Given the description of an element on the screen output the (x, y) to click on. 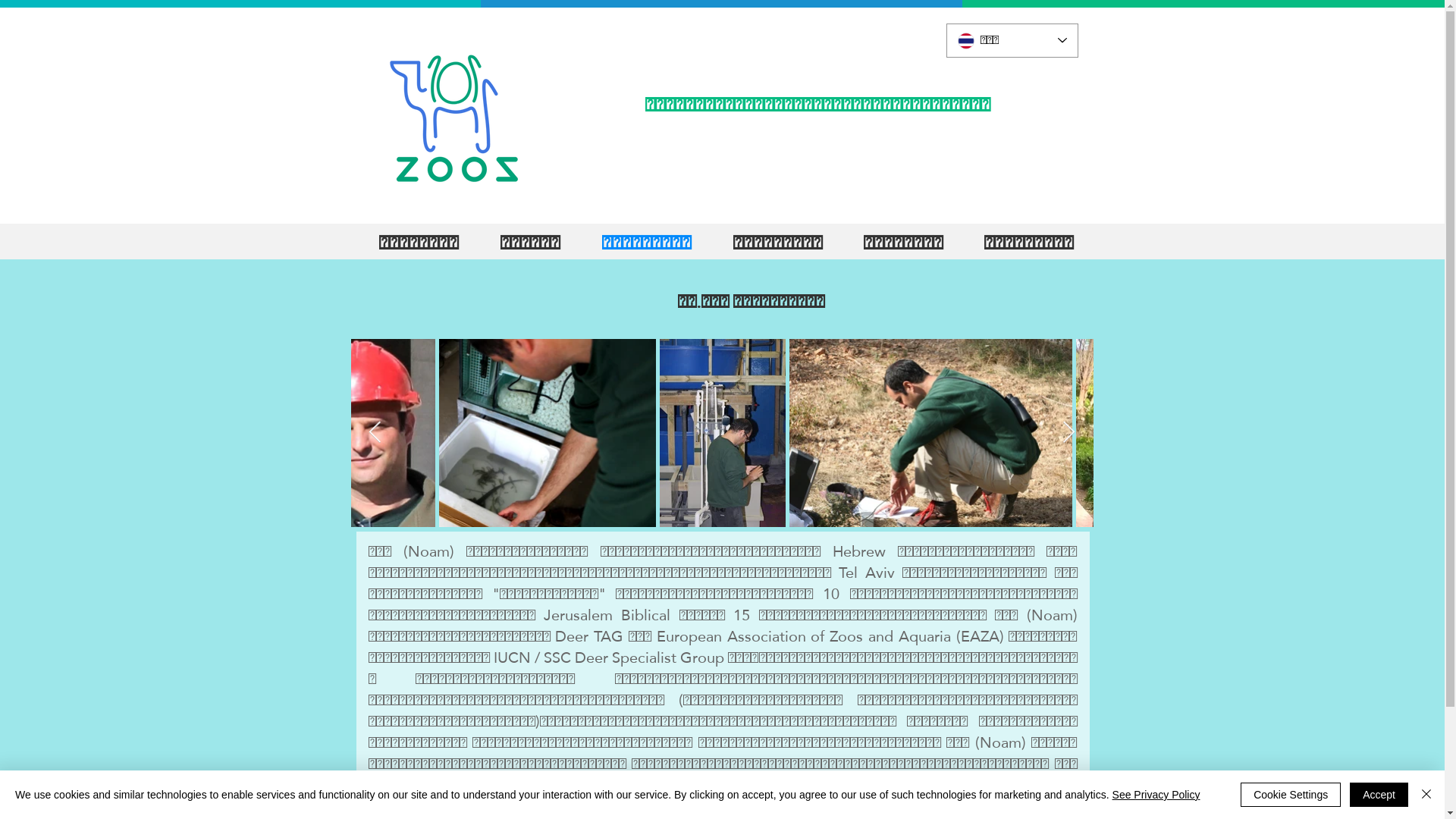
Accept Element type: text (1378, 794)
Cookie Settings Element type: text (1290, 794)
See Privacy Policy Element type: text (1156, 794)
